Given the description of an element on the screen output the (x, y) to click on. 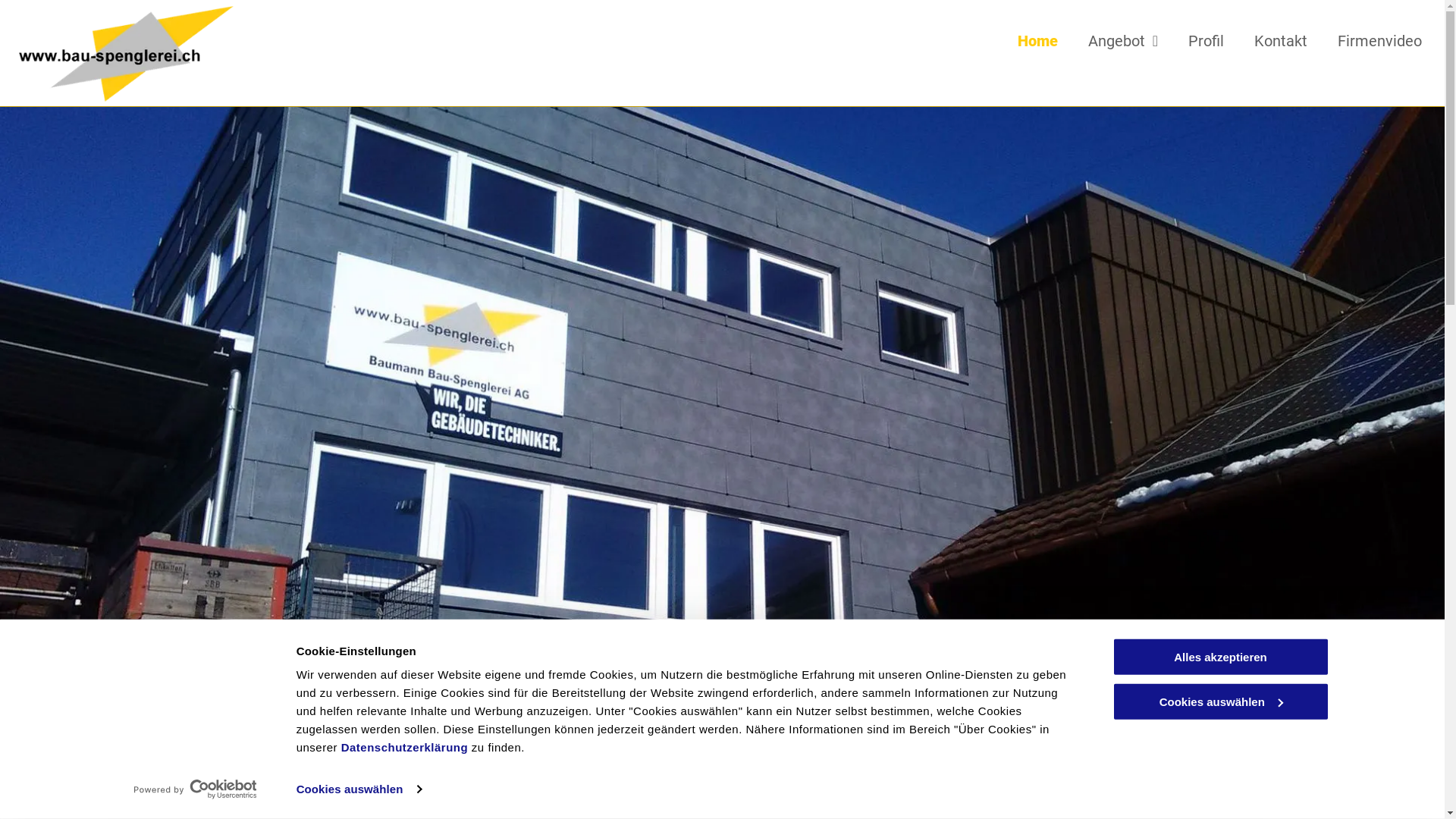
Firmenvideo Element type: text (1379, 40)
Alles akzeptieren Element type: text (1219, 656)
Kontakt Element type: text (1280, 40)
Home Element type: text (1037, 40)
Profil Element type: text (1205, 40)
Angebot Element type: text (1122, 40)
